Given the description of an element on the screen output the (x, y) to click on. 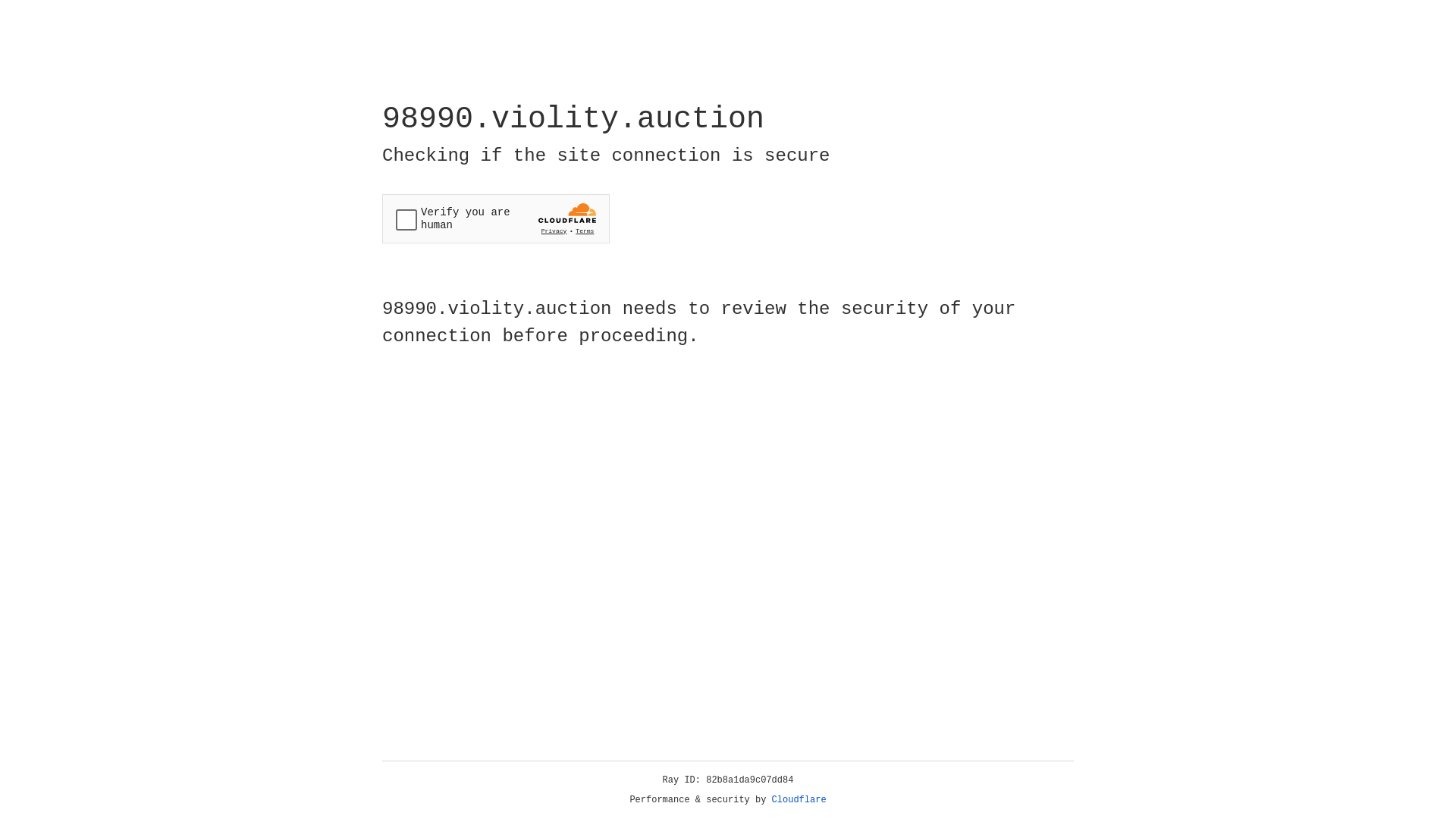
Cloudflare Element type: text (798, 799)
Widget containing a Cloudflare security challenge Element type: hover (495, 218)
